Given the description of an element on the screen output the (x, y) to click on. 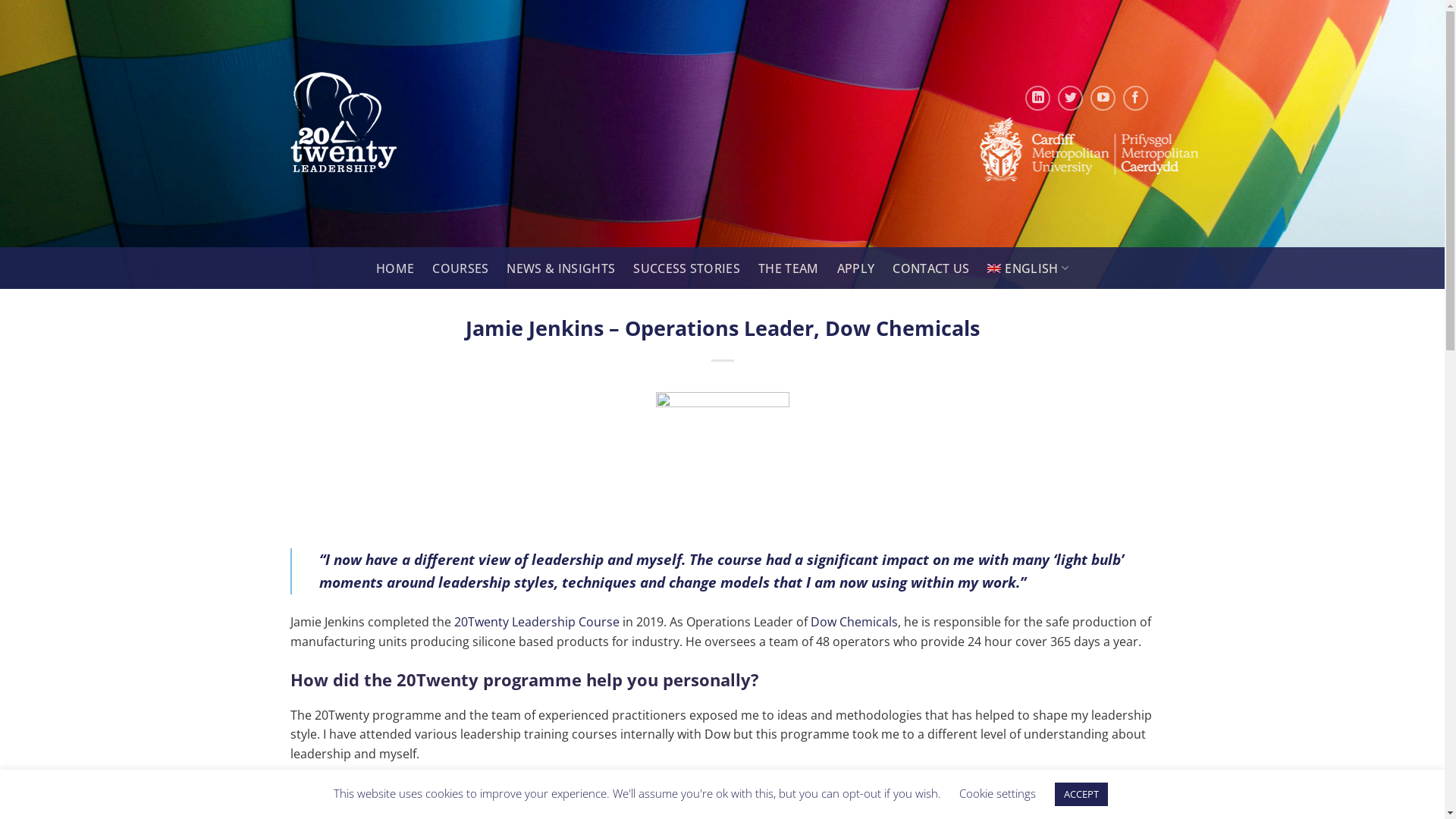
Follow on Facebook Element type: hover (1135, 97)
Dow Chemicals Element type: text (853, 621)
ACCEPT Element type: text (1080, 794)
Follow on LinkedIn Element type: hover (1037, 97)
HOME Element type: text (394, 267)
20Twenty Leadership Course Element type: text (535, 621)
Follow on Twitter Element type: hover (1069, 97)
APPLY Element type: text (855, 267)
THE TEAM Element type: text (788, 267)
NEWS & INSIGHTS Element type: text (560, 267)
Follow on YouTube Element type: hover (1102, 97)
ENGLISH Element type: text (1027, 268)
Cookie settings Element type: text (996, 792)
COURSES Element type: text (460, 267)
SUCCESS STORIES Element type: text (686, 267)
CONTACT US Element type: text (930, 267)
